Given the description of an element on the screen output the (x, y) to click on. 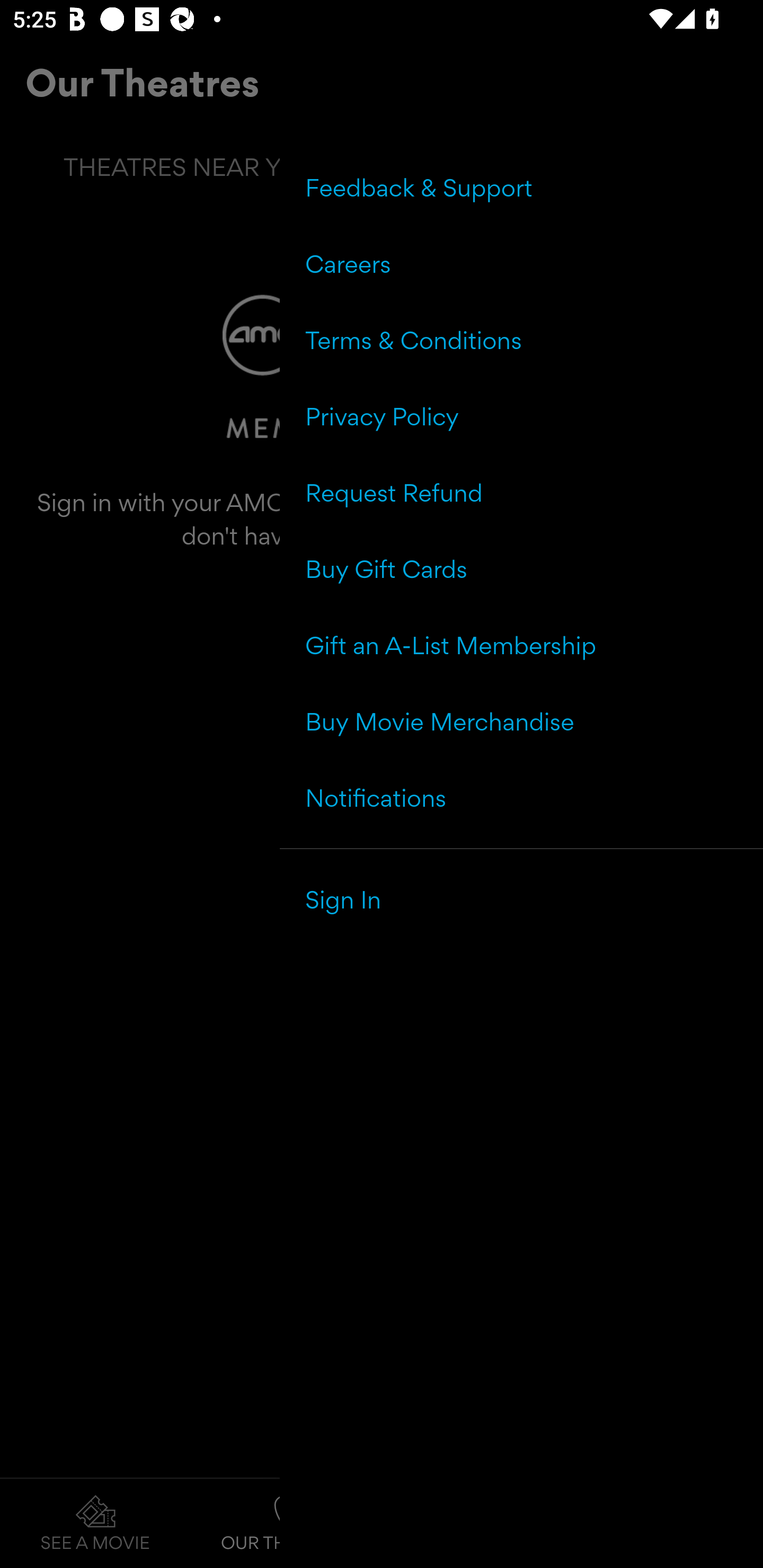
Feedback & Support (521, 186)
Careers (521, 263)
Terms & Conditions (521, 339)
Privacy Policy (521, 415)
Request Refund (521, 492)
Buy Gift Cards (521, 568)
Gift an A-List Membership (521, 644)
Buy Movie Merchandise (521, 720)
Notifications (521, 796)
Sign In (521, 898)
